Given the description of an element on the screen output the (x, y) to click on. 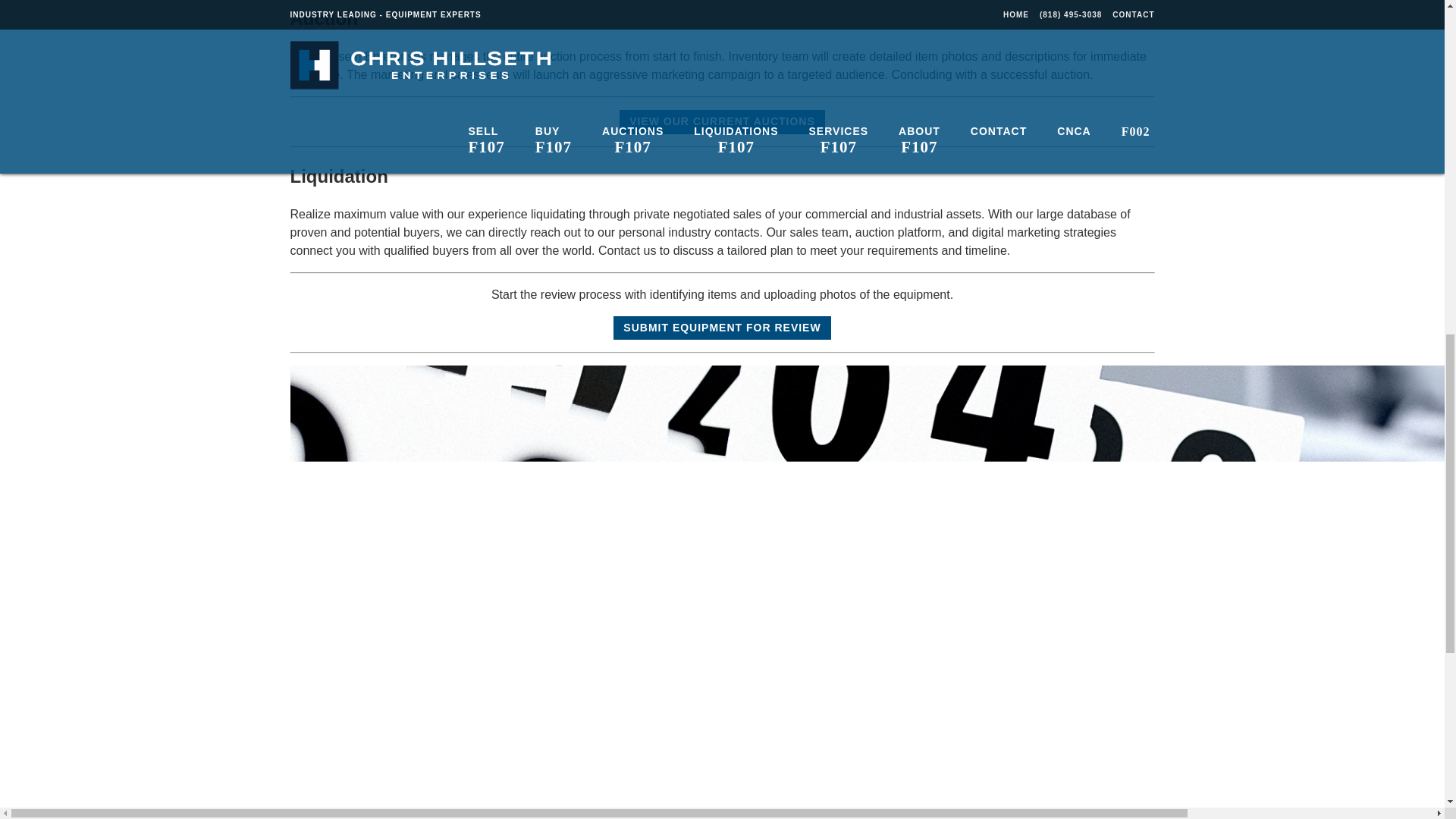
SUBMIT EQUIPMENT FOR REVIEW (720, 328)
VIEW OUR CURRENT AUCTIONS (722, 121)
